Given the description of an element on the screen output the (x, y) to click on. 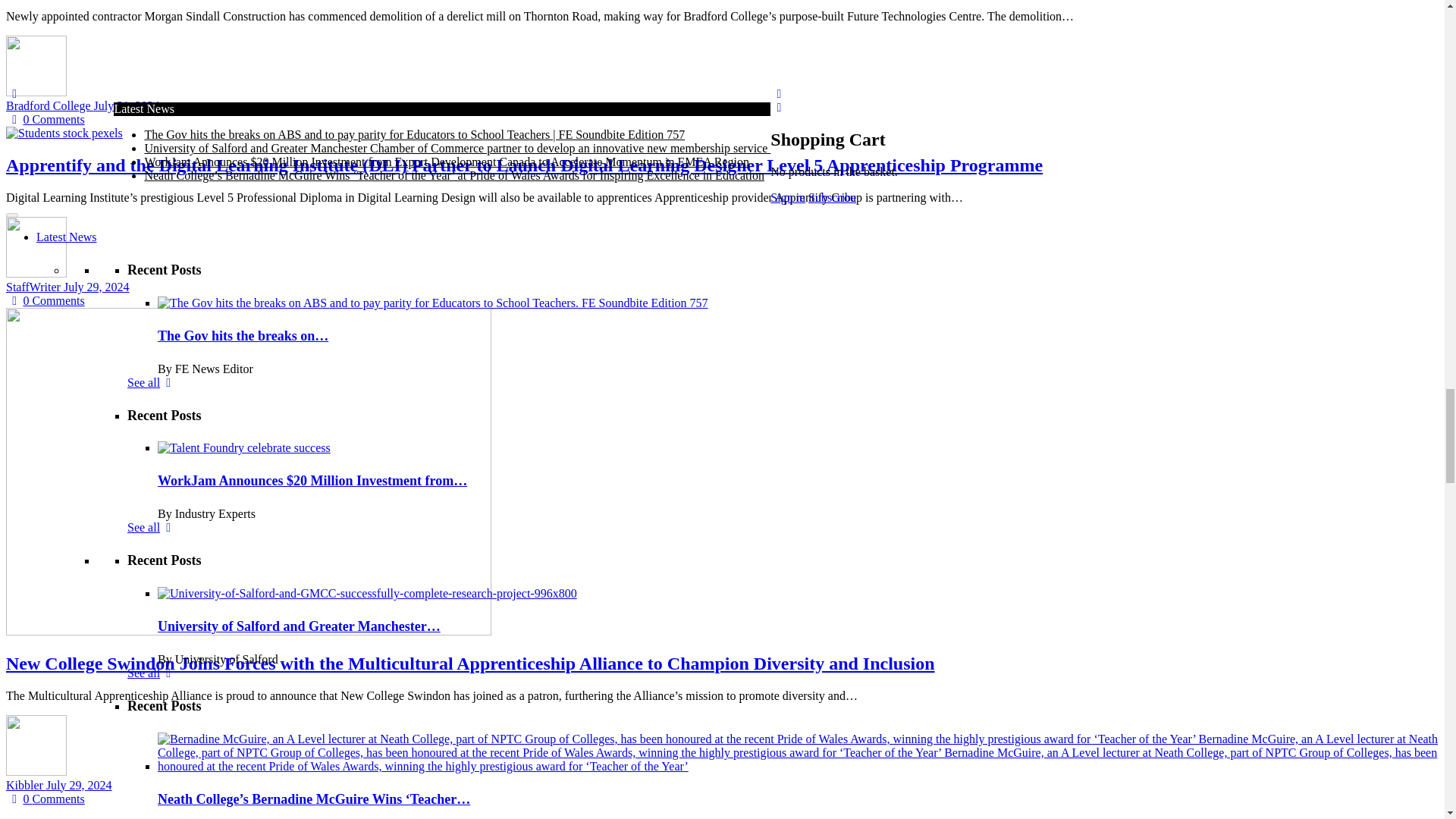
4 content types (424, 420)
